Given the description of an element on the screen output the (x, y) to click on. 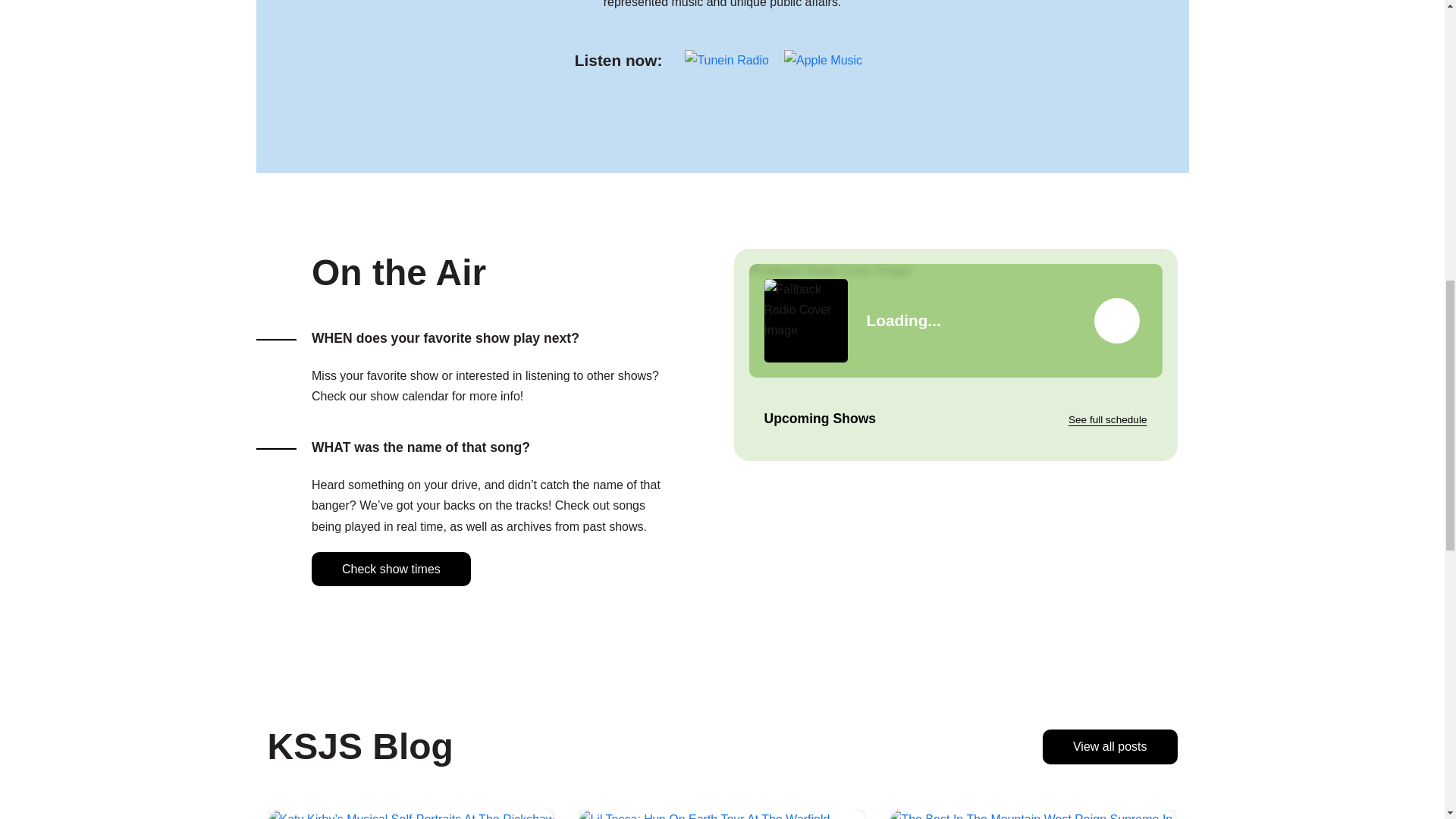
View all posts (1109, 746)
See full schedule (1107, 419)
Check show times (390, 569)
